Given the description of an element on the screen output the (x, y) to click on. 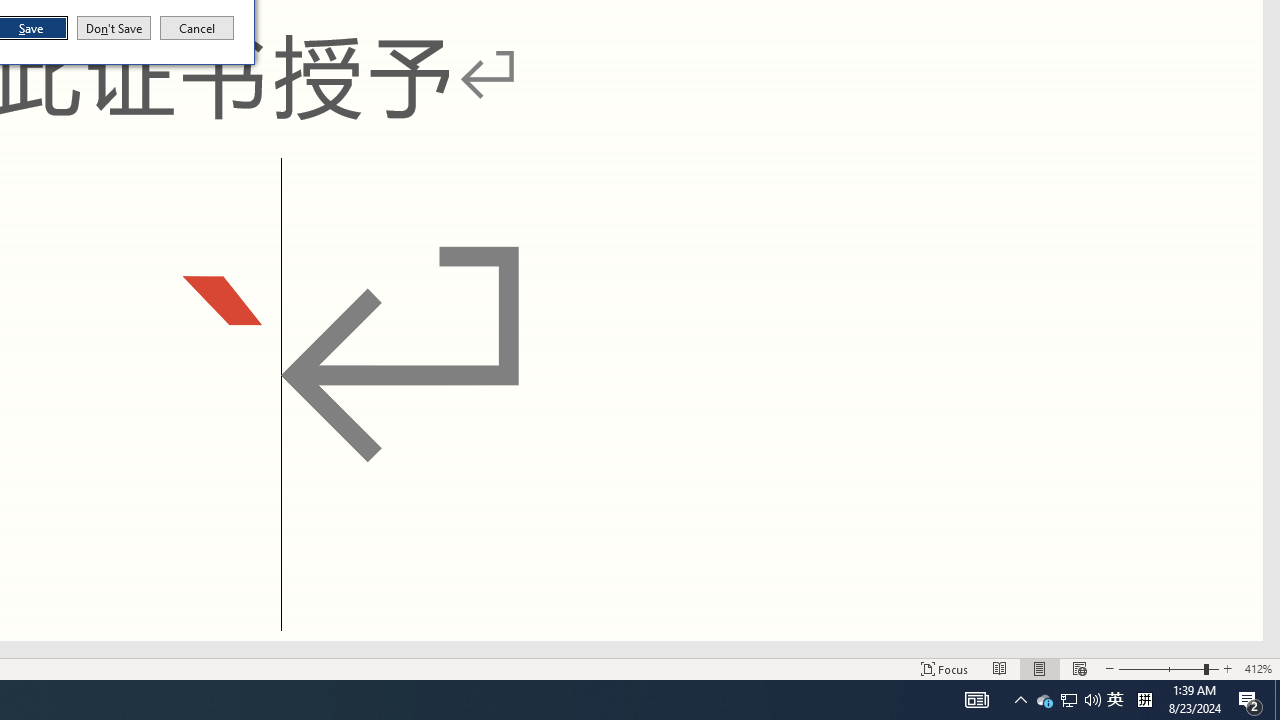
Don't Save (113, 27)
Tray Input Indicator - Chinese (Simplified, China) (1144, 699)
Zoom 412% (1115, 699)
